Given the description of an element on the screen output the (x, y) to click on. 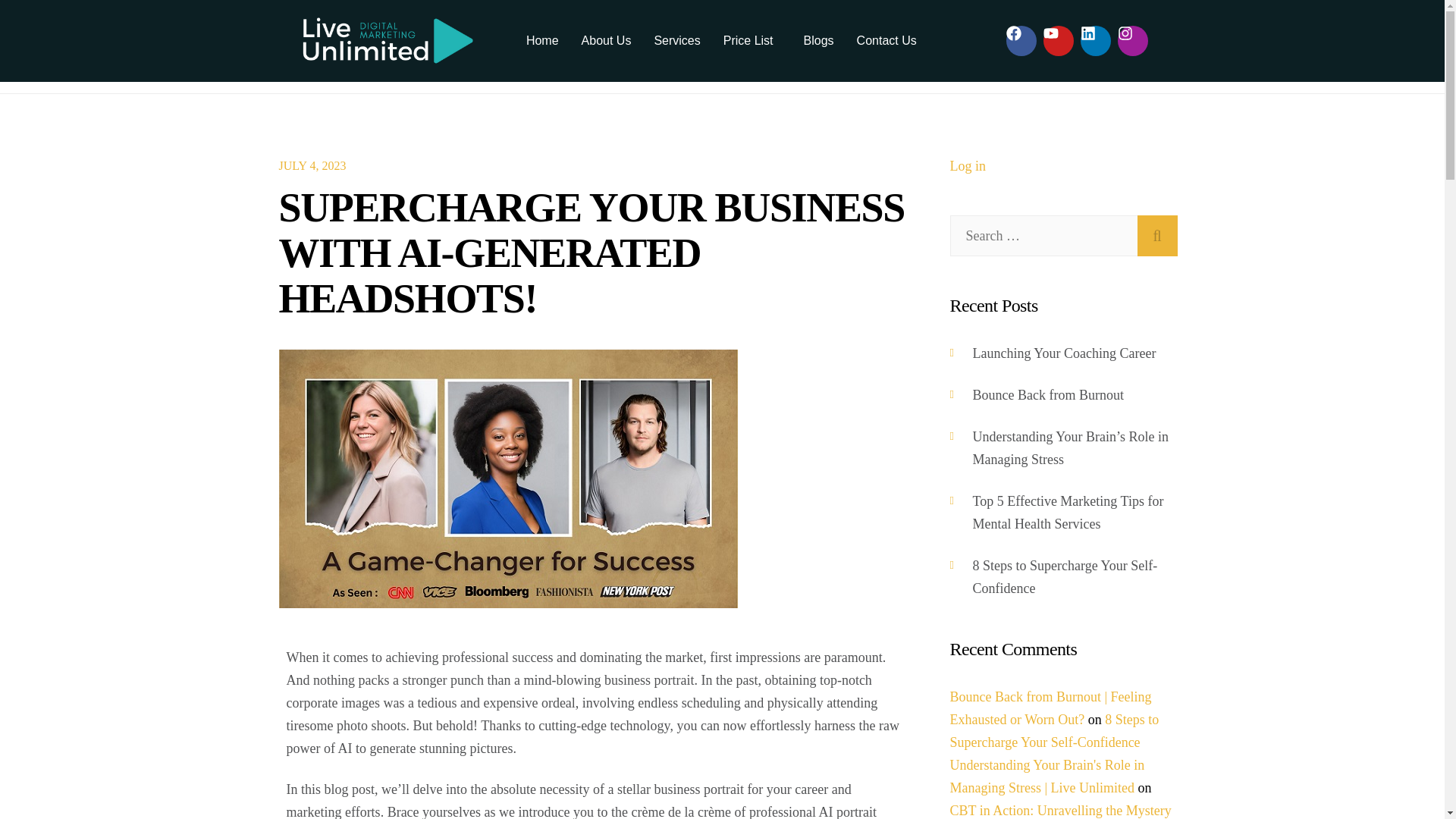
Price List (751, 40)
Contact Us (886, 40)
Blogs (818, 40)
Home (542, 40)
About Us (606, 40)
Services (676, 40)
